Given the description of an element on the screen output the (x, y) to click on. 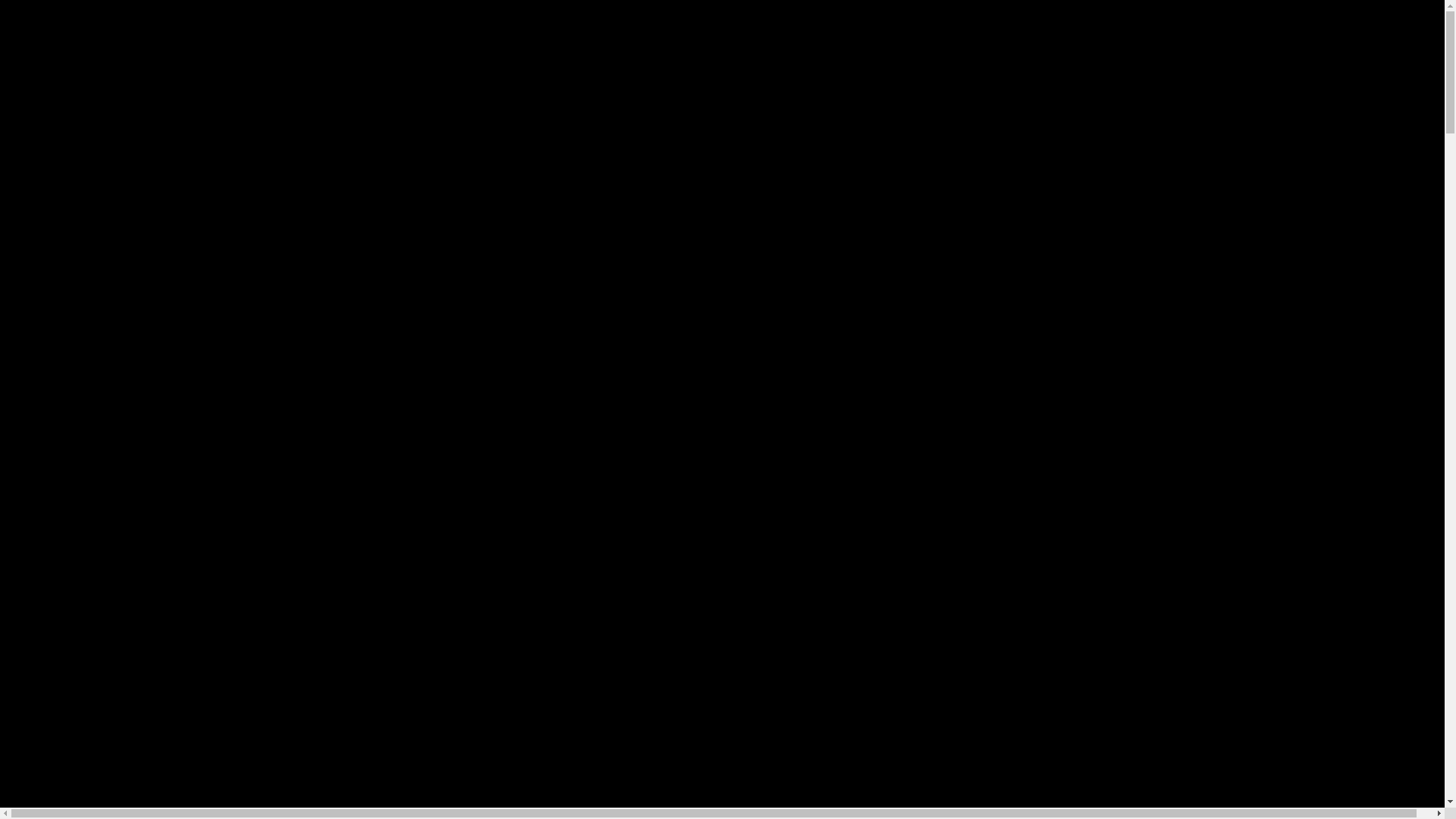
Book A Free Trial Today Element type: text (96, 322)
PROGRAMS Element type: text (43, 68)
CONTACT Element type: text (1336, 100)
BOOK A FREE TRIAL NOW Element type: text (89, 132)
BLOG Element type: text (1283, 100)
HOME Element type: text (1418, 52)
Adults Martial Arts Element type: text (271, 84)
MEMBERS Element type: text (1404, 100)
Group Fitness Element type: text (363, 84)
Log In Element type: text (24, 116)
Teens Martial Arts Element type: text (162, 84)
Youth Martial Arts Element type: text (57, 84)
